Given the description of an element on the screen output the (x, y) to click on. 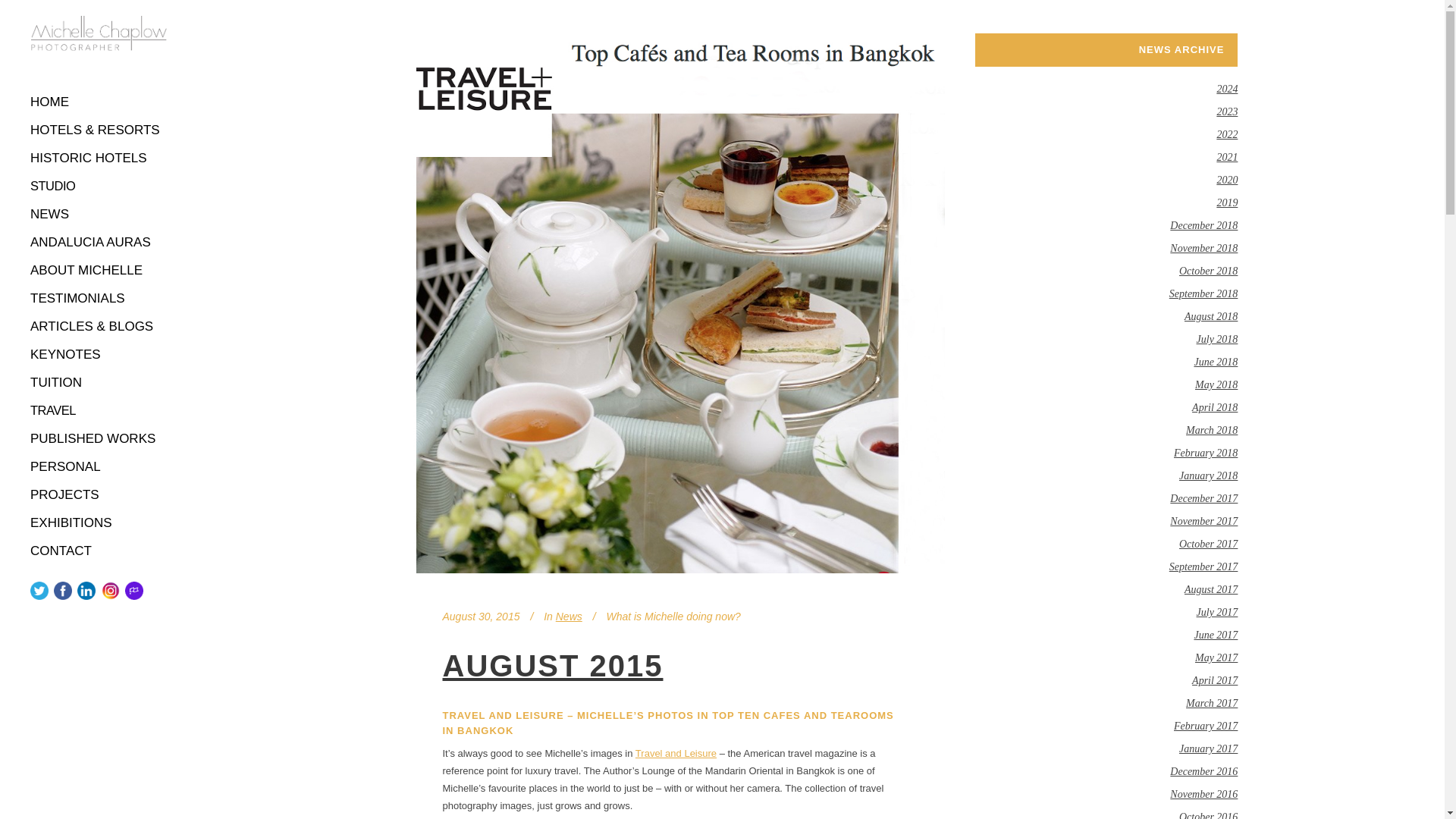
linkedin (86, 590)
PERSONAL PROJECTS (98, 480)
facebook (62, 590)
CONTACT (98, 551)
ABOUT MICHELLE (98, 270)
EXHIBITIONS (98, 522)
HOME (98, 101)
PUBLISHED WORKS (98, 438)
ANDALUCIA AURAS (98, 242)
TUITION (98, 382)
